Given the description of an element on the screen output the (x, y) to click on. 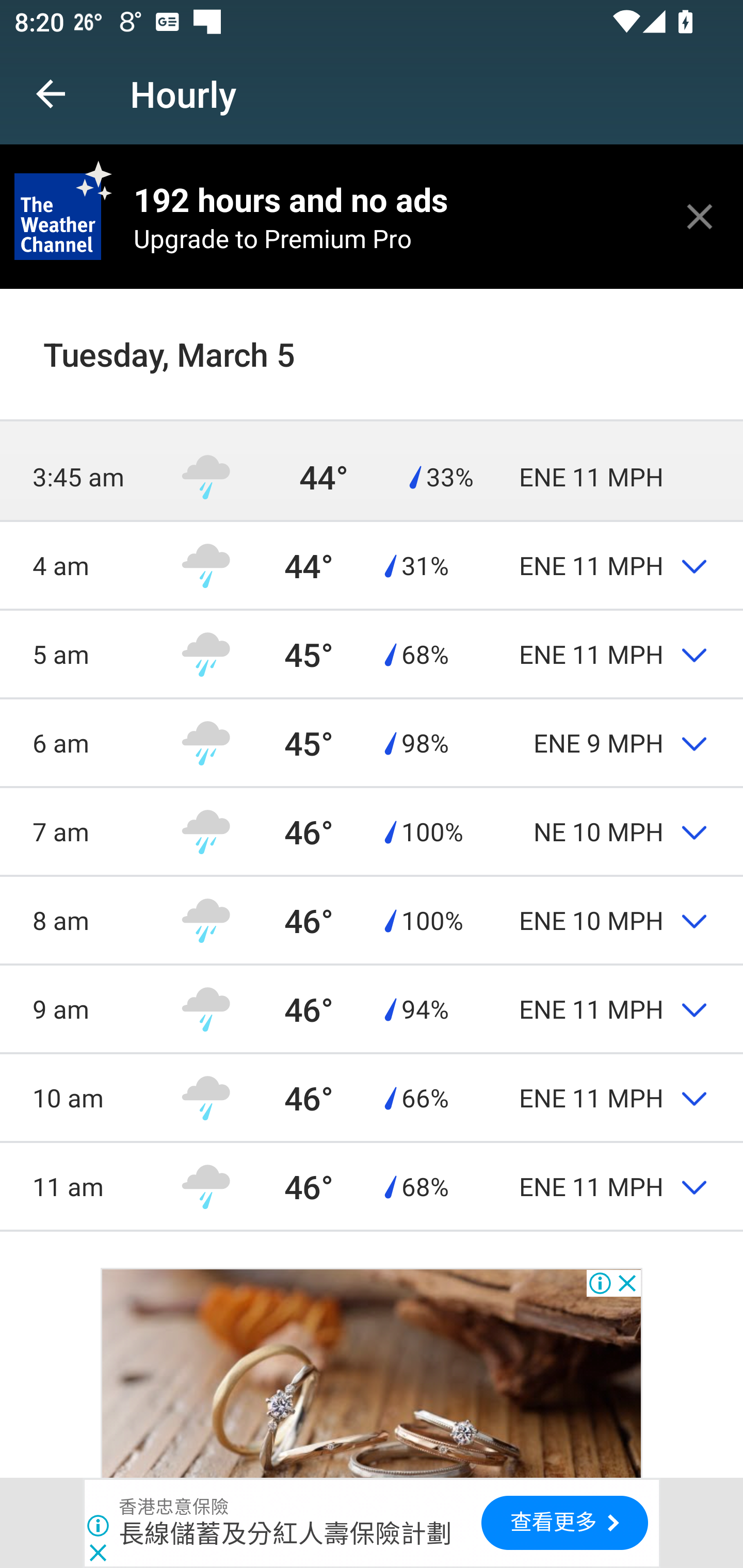
Navigate up (50, 93)
close this (699, 216)
4 am 44° 31% ENE 11 MPH (371, 565)
5 am 45° 68% ENE 11 MPH (371, 653)
6 am 45° 98% ENE 9 MPH (371, 742)
7 am 46° 100% NE 10 MPH (371, 831)
8 am 46° 100% ENE 10 MPH (371, 919)
9 am 46° 94% ENE 11 MPH (371, 1008)
10 am 46° 66% ENE 11 MPH (371, 1097)
11 am 46° 68% ENE 11 MPH (371, 1186)
venus-tears (371, 1372)
香港忠意保險 (174, 1507)
查看更多 (564, 1522)
長線儲蓄及分紅人壽保險計劃 (285, 1533)
